Given the description of an element on the screen output the (x, y) to click on. 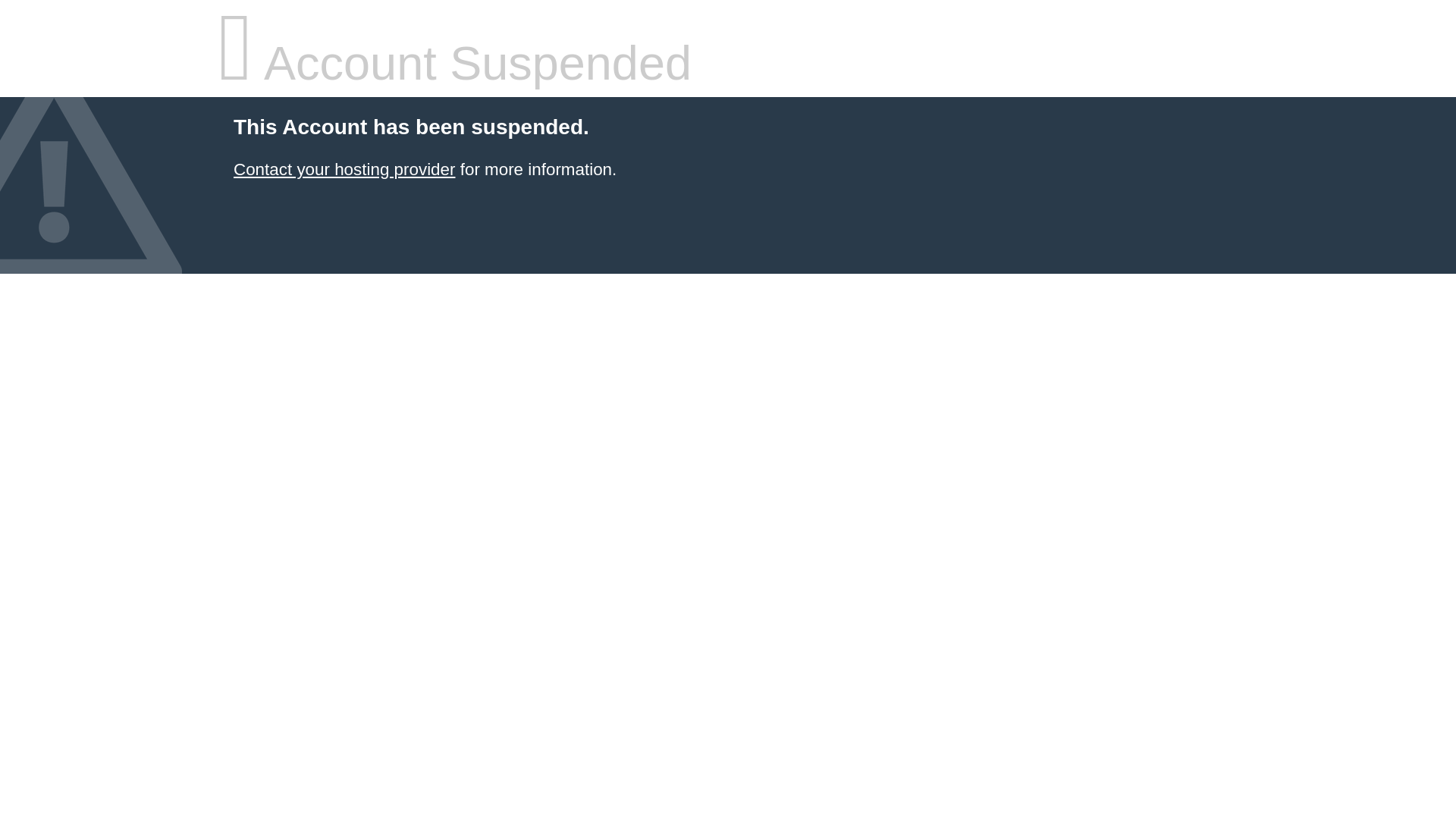
Contact your hosting provider Element type: text (344, 169)
